Given the description of an element on the screen output the (x, y) to click on. 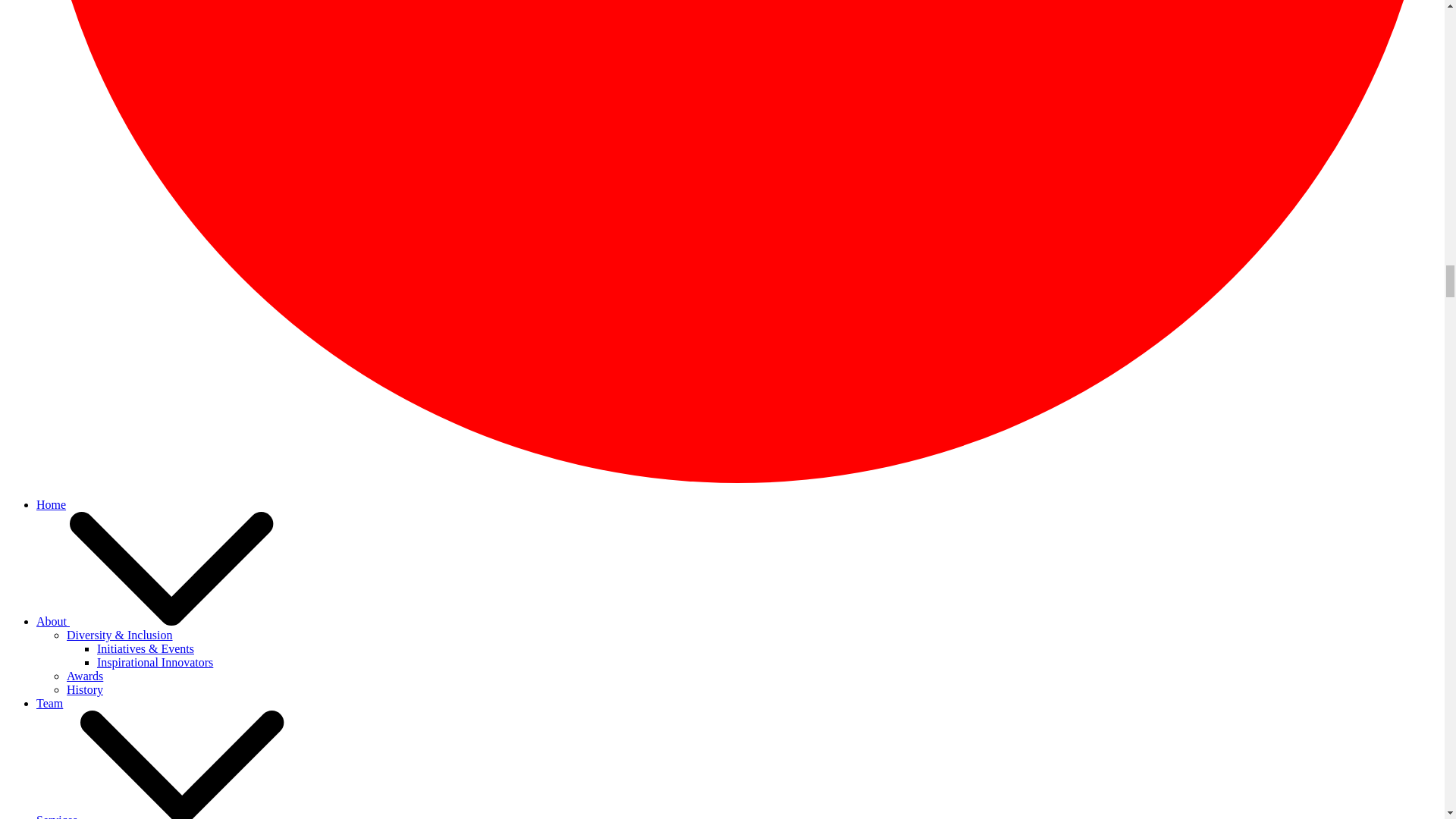
About (52, 621)
Team (49, 703)
Home (50, 504)
History (84, 689)
Awards (84, 675)
Services (58, 816)
Inspirational Innovators (154, 662)
